Given the description of an element on the screen output the (x, y) to click on. 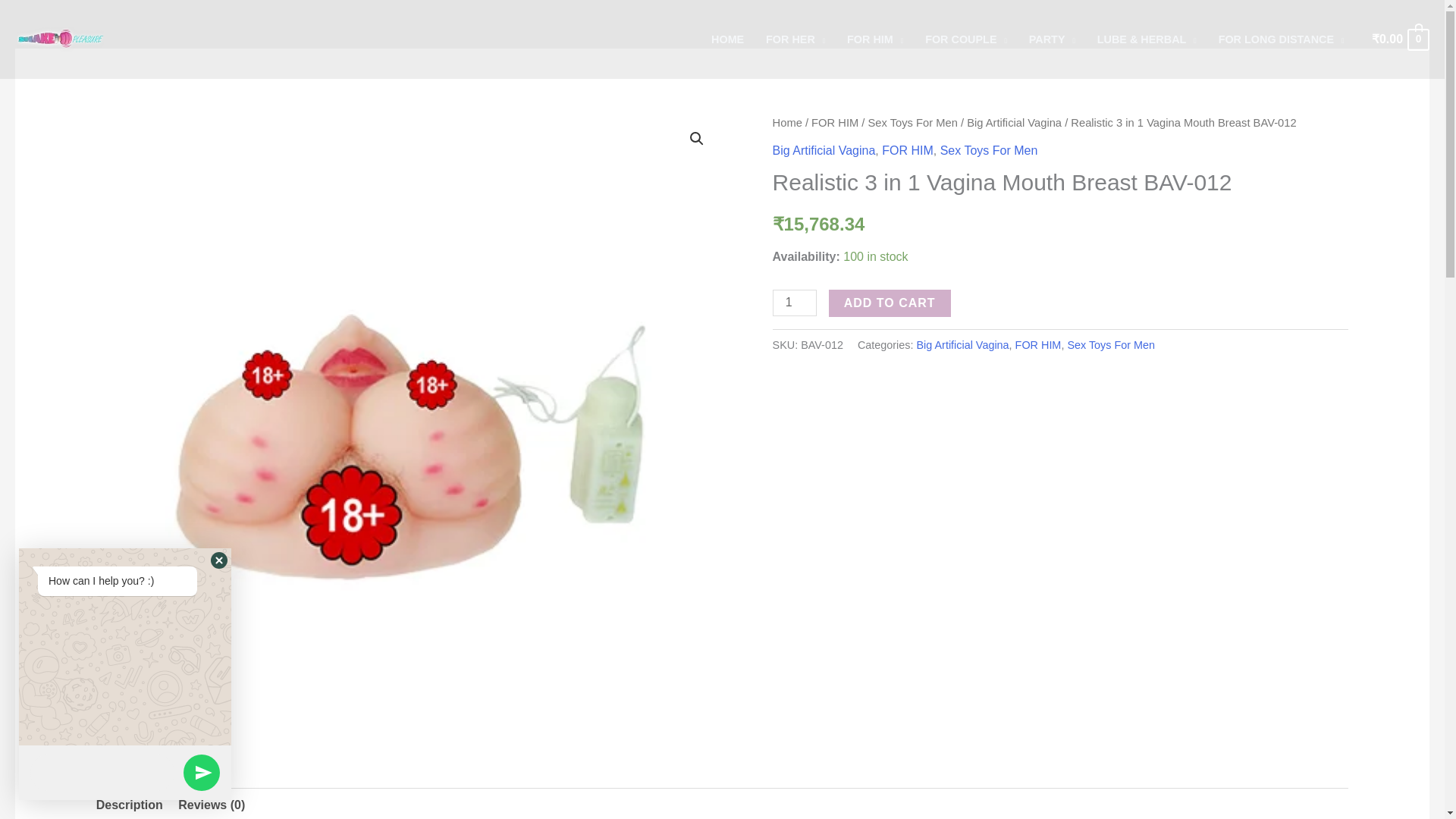
FOR HER (795, 39)
HOME (727, 39)
1 (794, 302)
FOR HIM (874, 39)
